Given the description of an element on the screen output the (x, y) to click on. 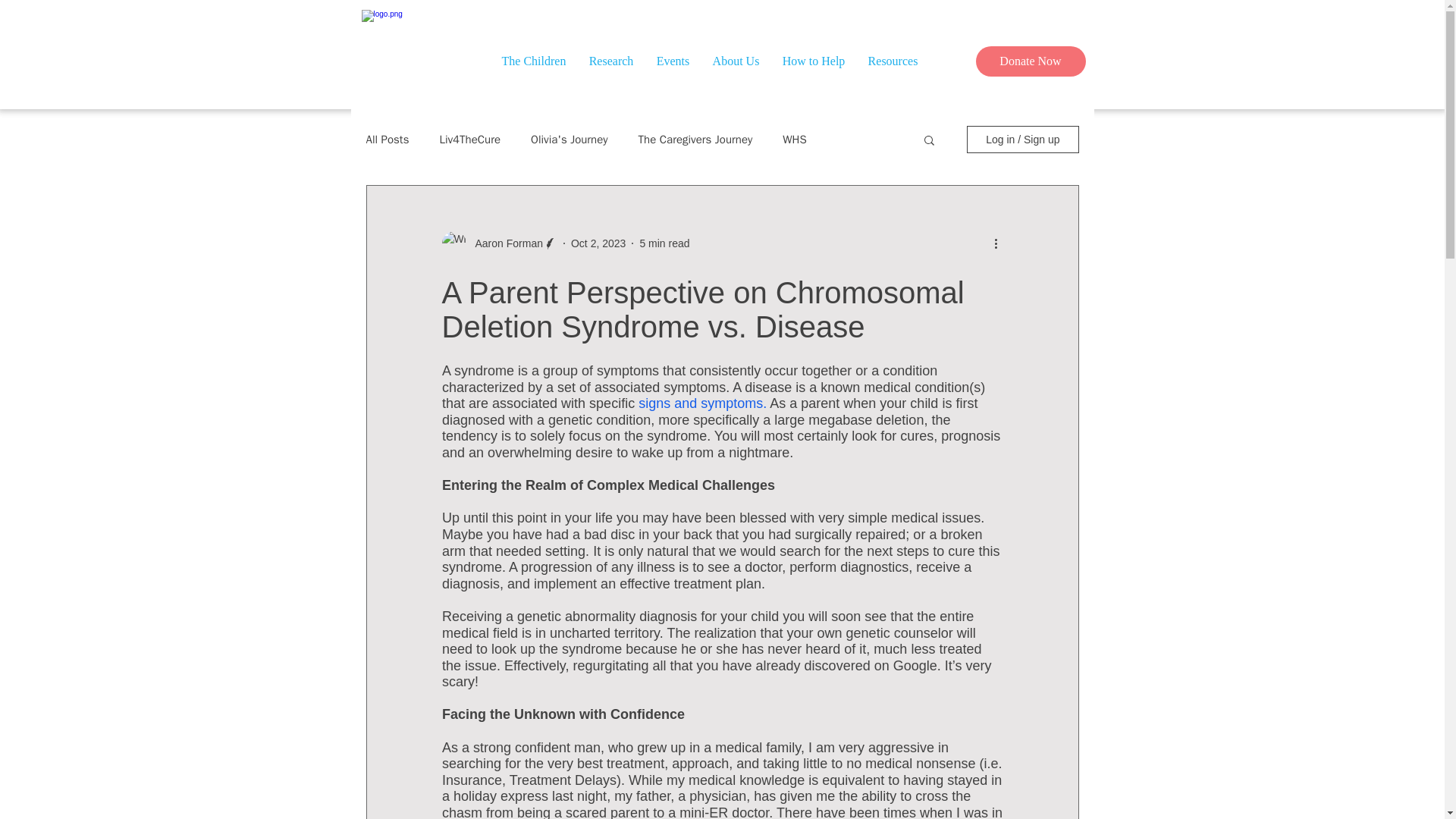
Research (611, 61)
Oct 2, 2023 (598, 242)
5 min read (663, 242)
All Posts (387, 138)
The Caregivers Journey (695, 138)
signs and symptoms (700, 403)
Liv4TheCure (469, 138)
Olivia's Journey (569, 138)
Events (672, 61)
WHS (794, 138)
